Given the description of an element on the screen output the (x, y) to click on. 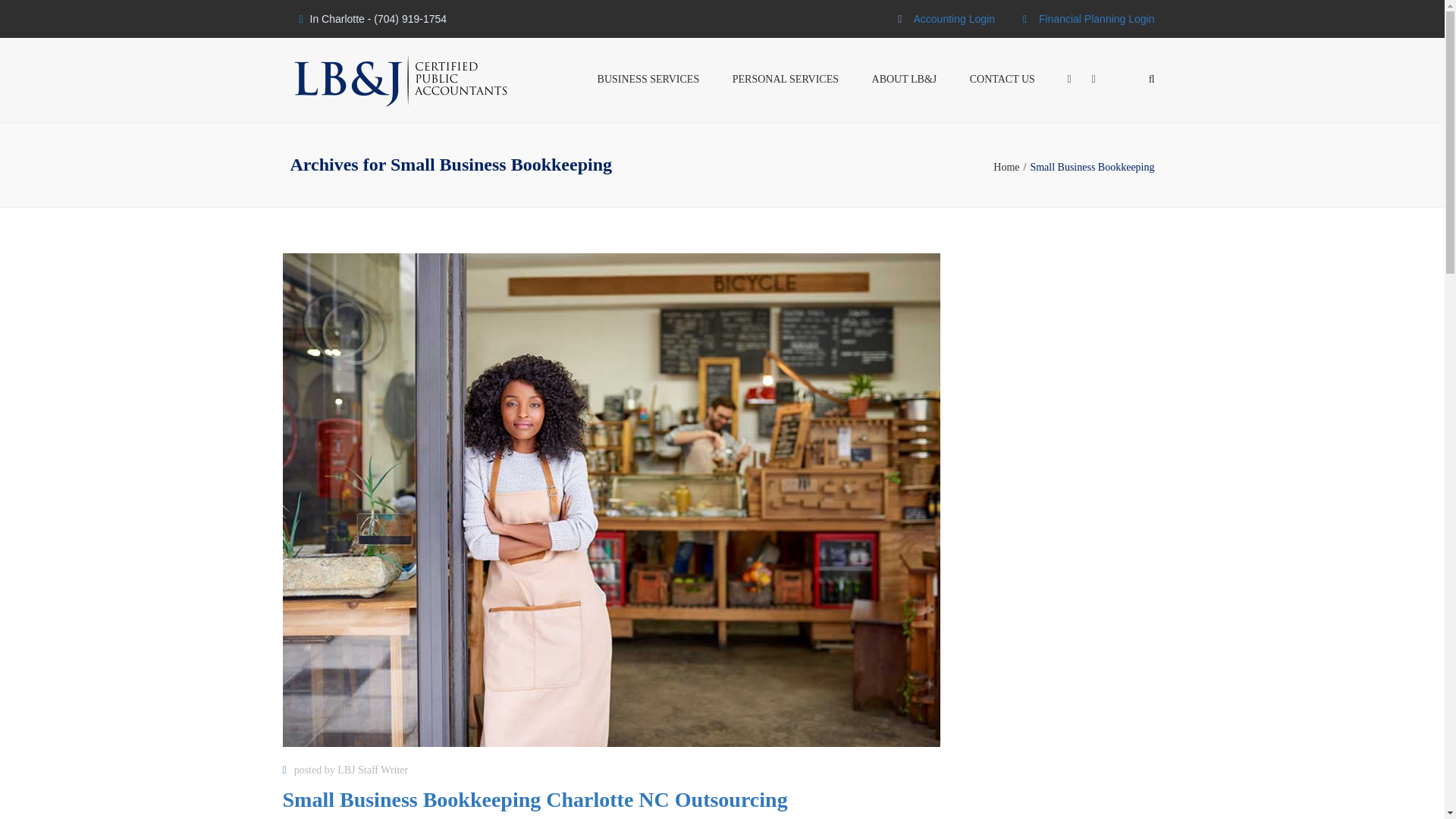
Financial Planning Login (1096, 19)
PERSONAL SERVICES (785, 79)
LBJ Staff Writer (372, 769)
Home (1010, 166)
BUSINESS SERVICES (648, 79)
Accounting Login (953, 19)
Small Business Bookkeeping Charlotte NC Outsourcing (534, 802)
CONTACT US (1002, 79)
Small Business Bookkeeping Charlotte NC Outsourcing (534, 802)
